Given the description of an element on the screen output the (x, y) to click on. 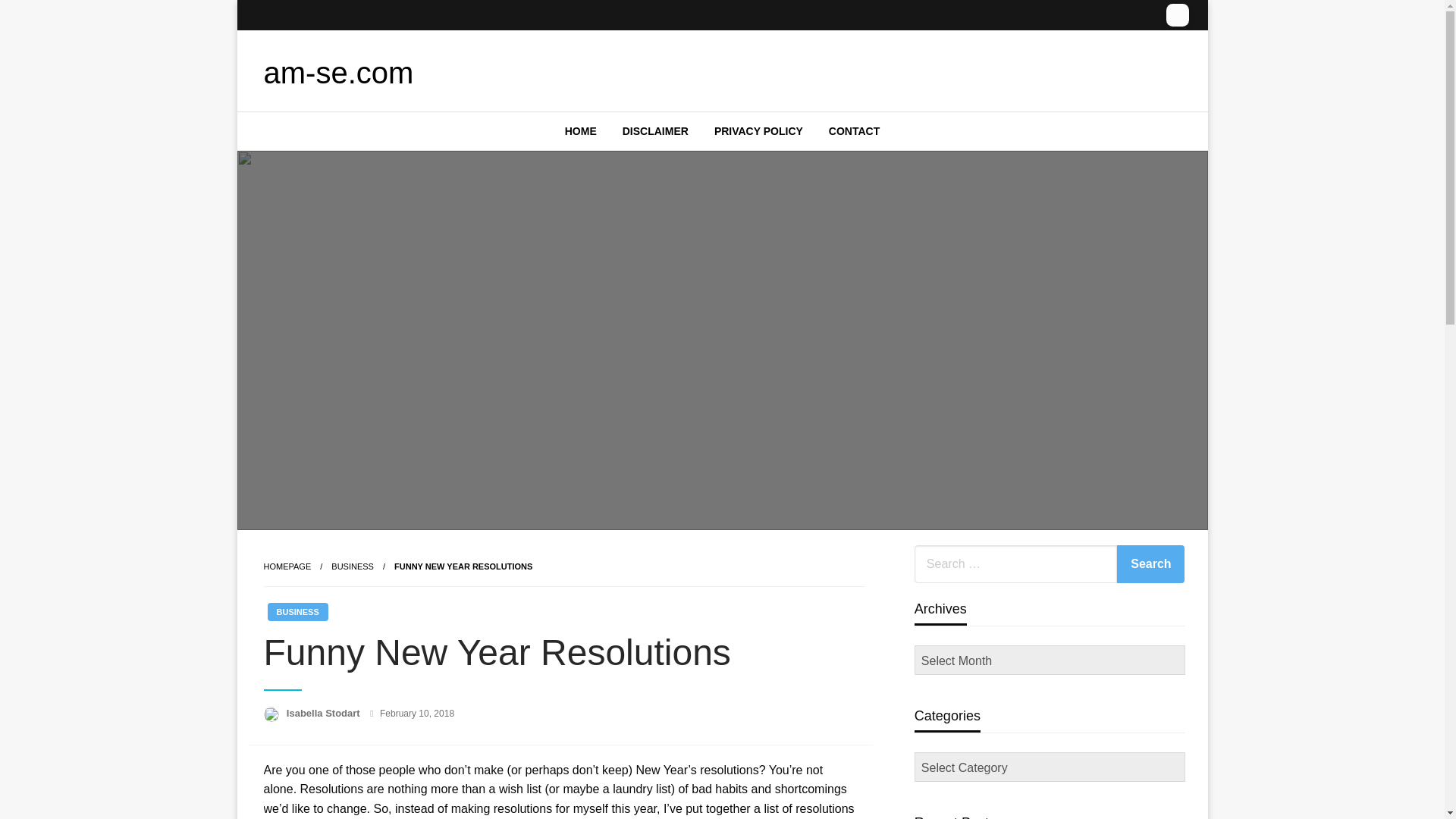
BUSINESS (296, 611)
February 10, 2018 (417, 713)
Isabella Stodart (324, 713)
Search (1150, 564)
HOMEPAGE (287, 565)
PRIVACY POLICY (758, 130)
Search (1150, 564)
Homepage (287, 565)
Funny New Year Resolutions (463, 565)
am-se.com (338, 72)
BUSINESS (352, 565)
DISCLAIMER (655, 130)
HOME (580, 130)
CONTACT (853, 130)
Search (1150, 564)
